Given the description of an element on the screen output the (x, y) to click on. 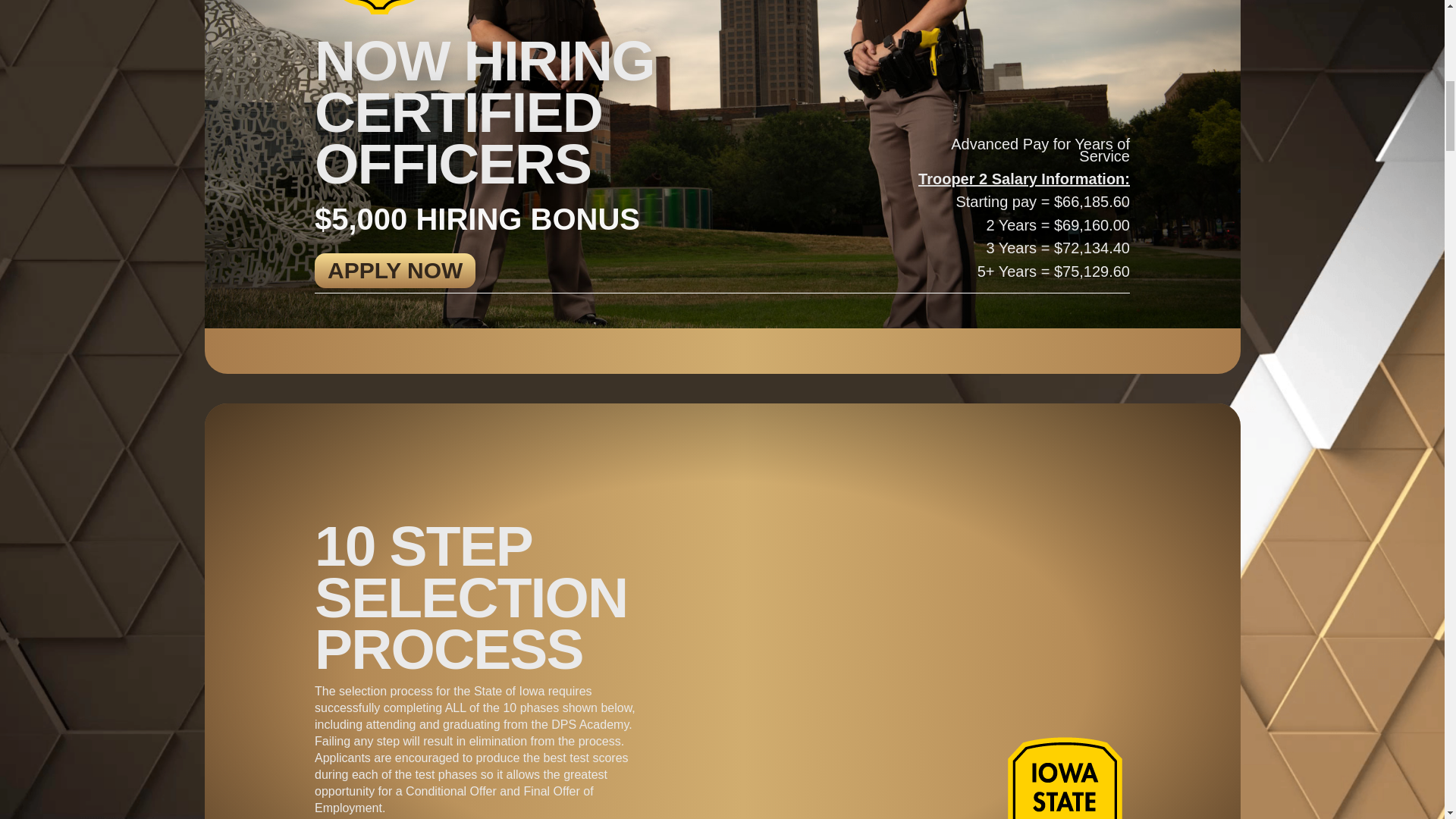
APPLY NOW (395, 270)
